Given the description of an element on the screen output the (x, y) to click on. 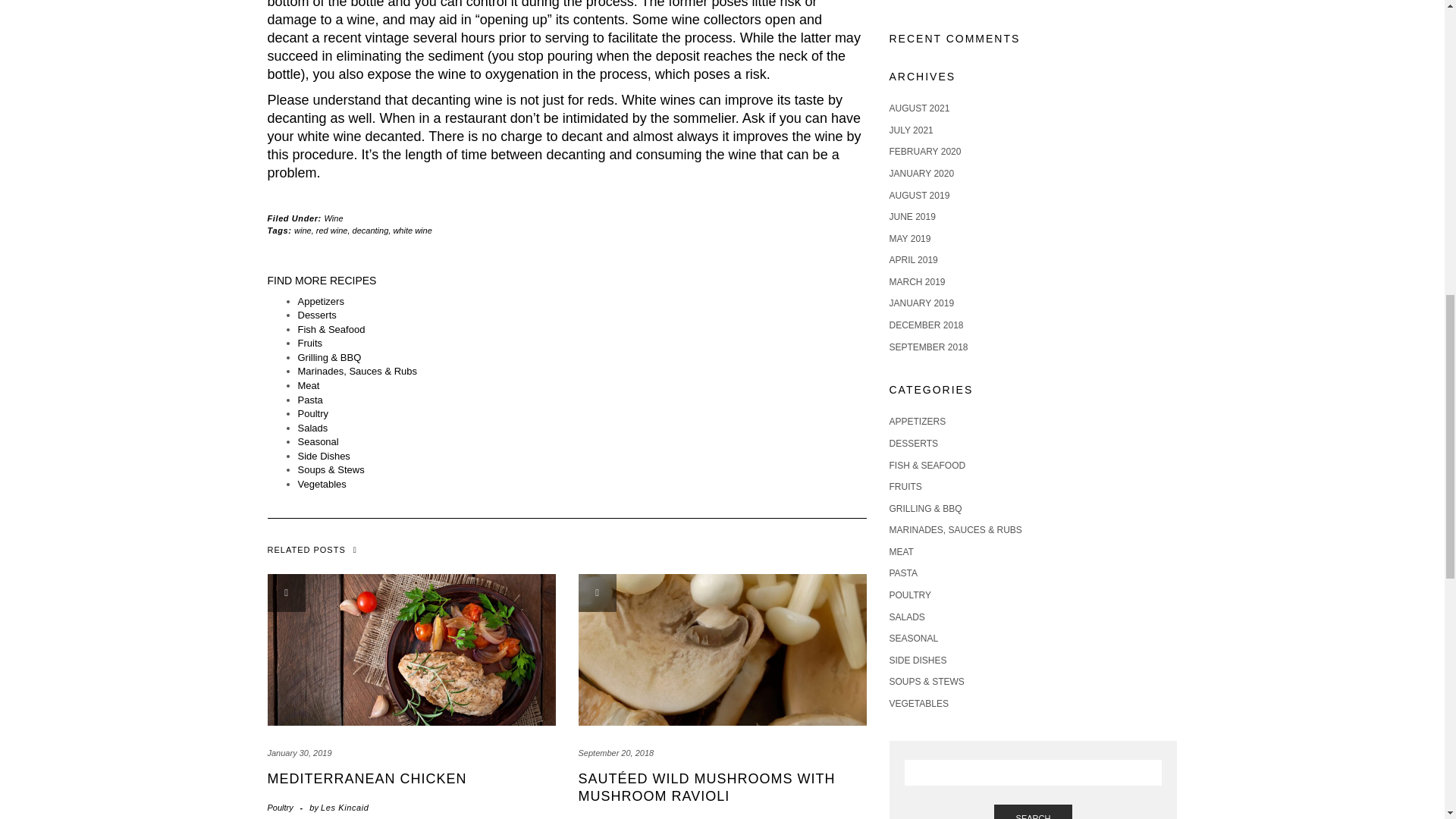
Mediterranean Chicken (365, 778)
wine (302, 230)
red wine (331, 230)
Wine (333, 217)
decanting (370, 230)
white wine (411, 230)
